Given the description of an element on the screen output the (x, y) to click on. 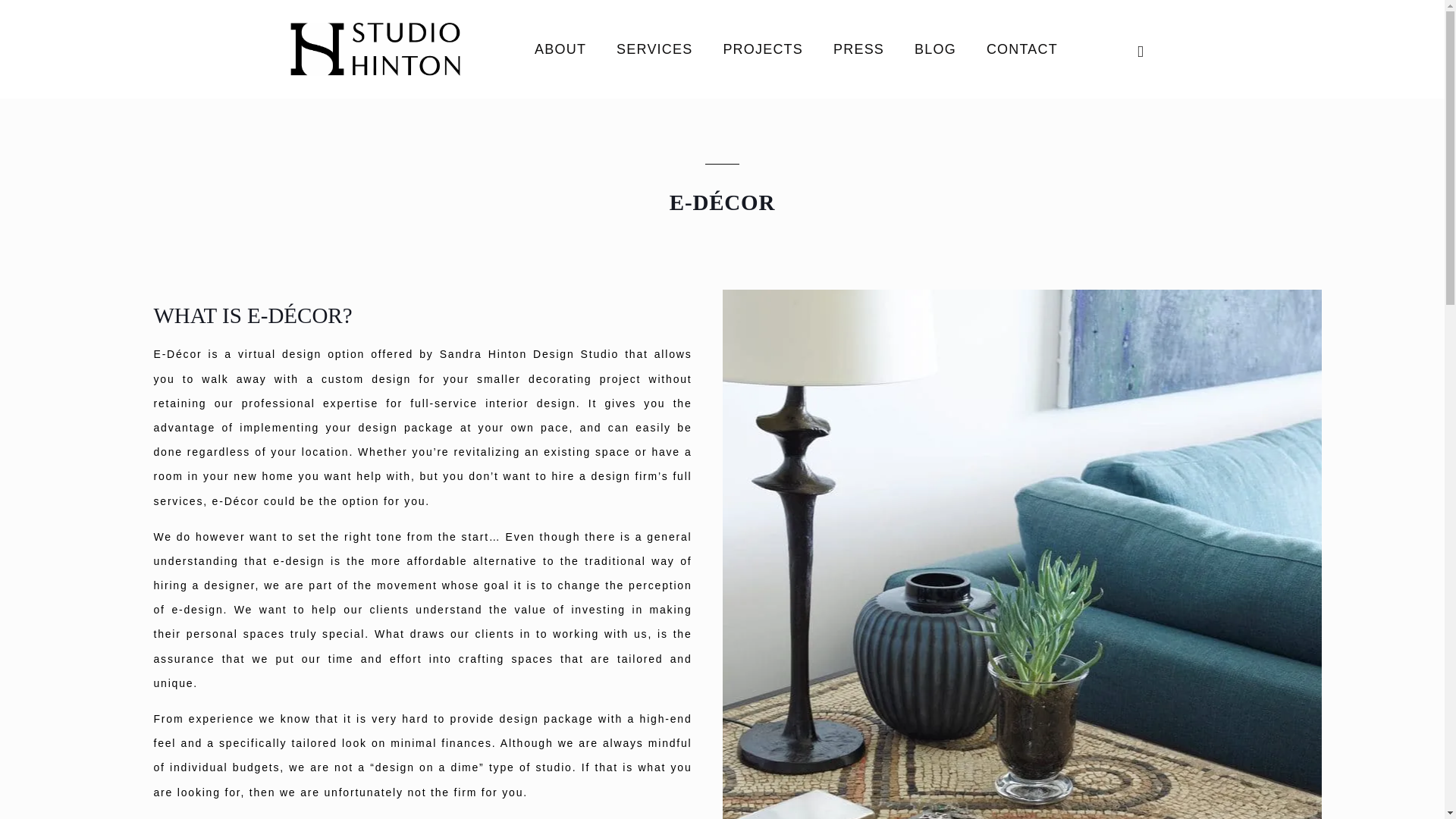
SERVICES (654, 49)
BLOG (935, 49)
PRESS (858, 49)
PROJECTS (762, 49)
ABOUT (560, 49)
CONTACT (1022, 49)
